Given the description of an element on the screen output the (x, y) to click on. 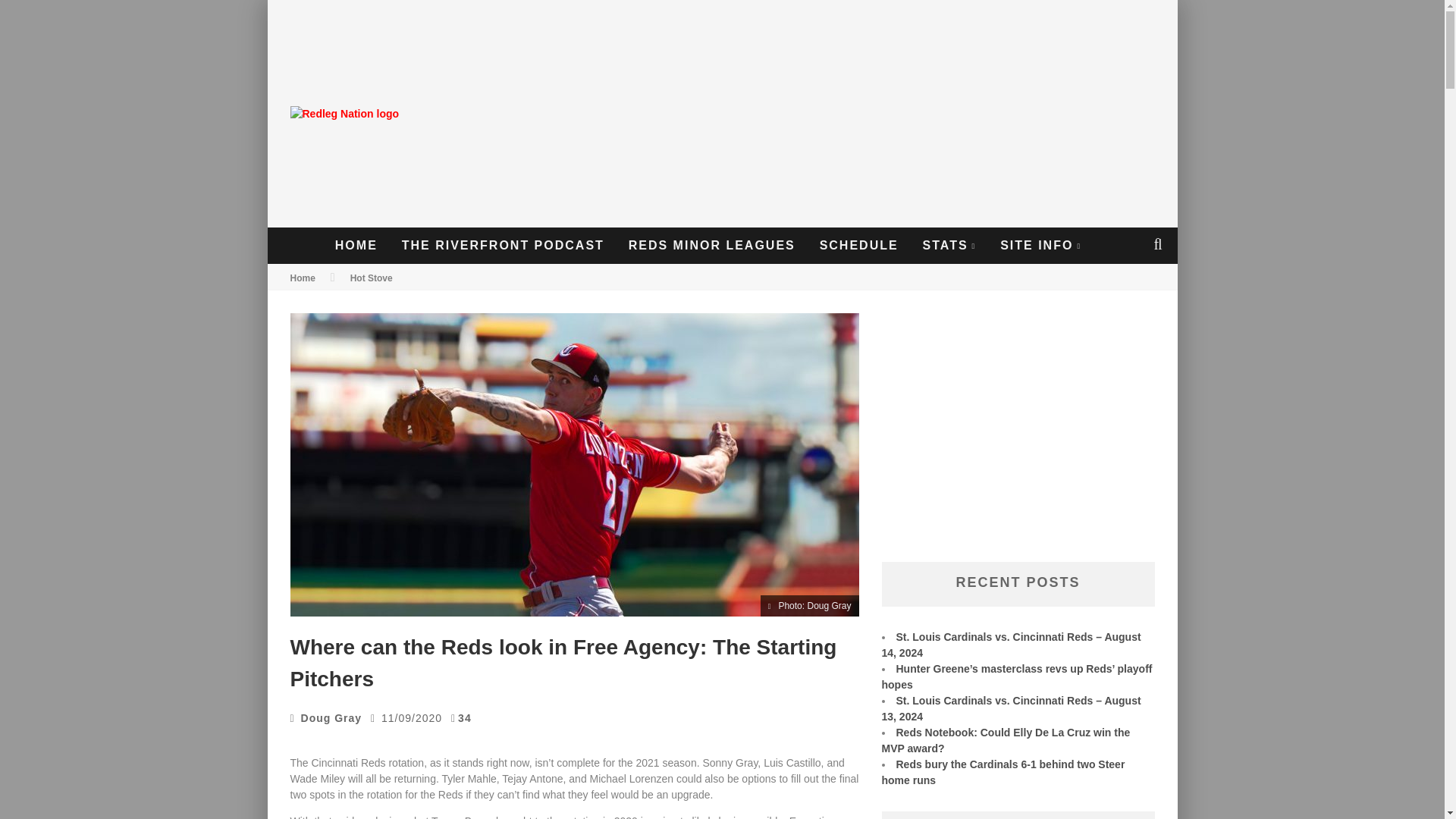
SCHEDULE (859, 245)
REDS MINOR LEAGUES (711, 245)
34 (464, 717)
THE RIVERFRONT PODCAST (502, 245)
View all posts in Hot Stove (371, 277)
Home (301, 277)
Advertisement (893, 113)
Hot Stove (371, 277)
Advertisement (1017, 439)
HOME (355, 245)
